Given the description of an element on the screen output the (x, y) to click on. 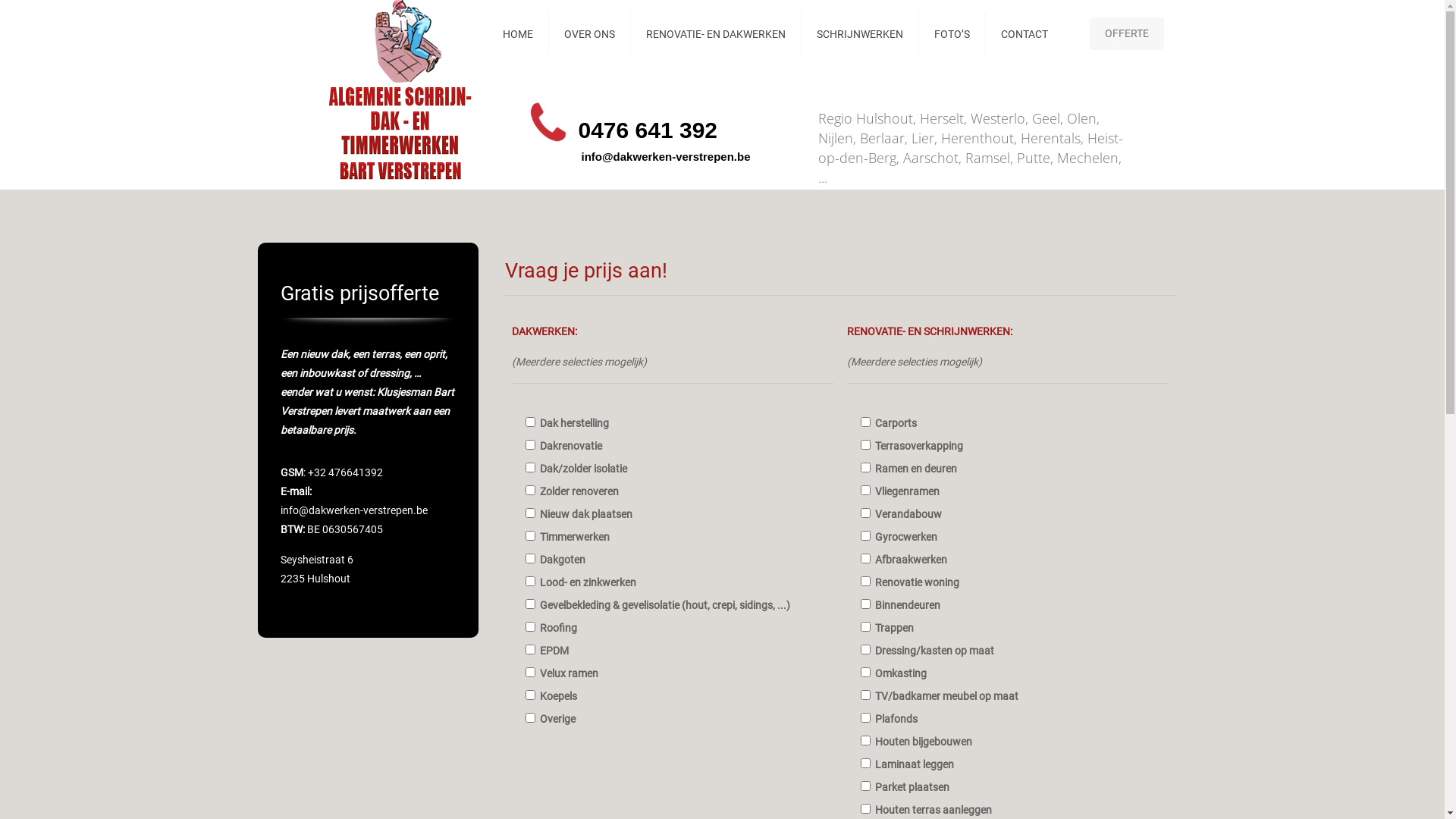
CONTACT Element type: text (1024, 34)
SCHRIJNWERKEN Element type: text (860, 34)
RENOVATIE- EN DAKWERKEN Element type: text (715, 34)
OVER ONS Element type: text (589, 34)
info@dakwerken-verstrepen.be Element type: text (665, 156)
HOME Element type: text (518, 34)
OFFERTE Element type: text (1126, 33)
